Given the description of an element on the screen output the (x, y) to click on. 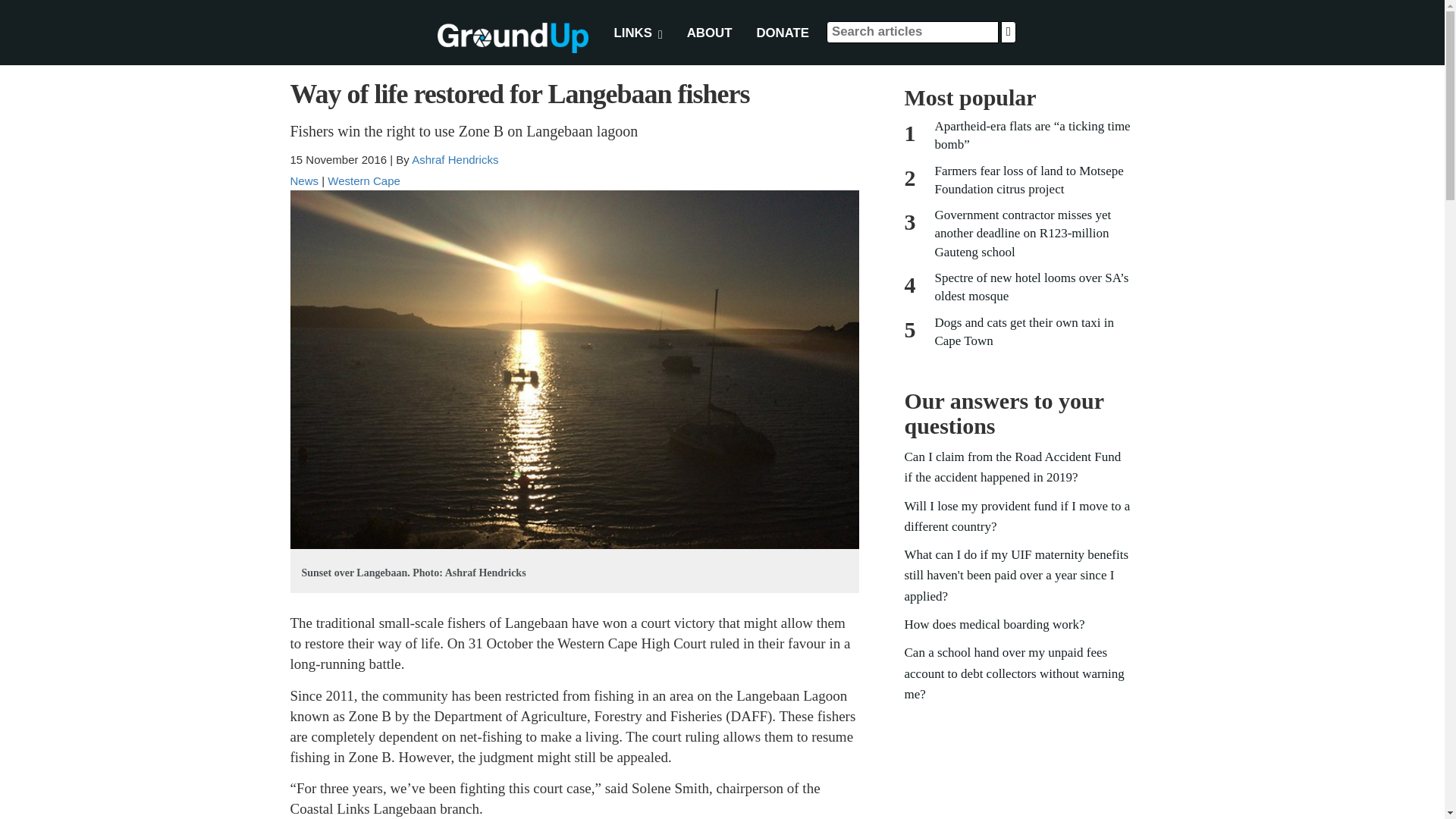
DONATE (782, 32)
Search (1008, 32)
ABOUT (709, 32)
LINKS (638, 32)
Ashraf Hendricks (454, 159)
News (303, 180)
Western Cape (363, 180)
